Given the description of an element on the screen output the (x, y) to click on. 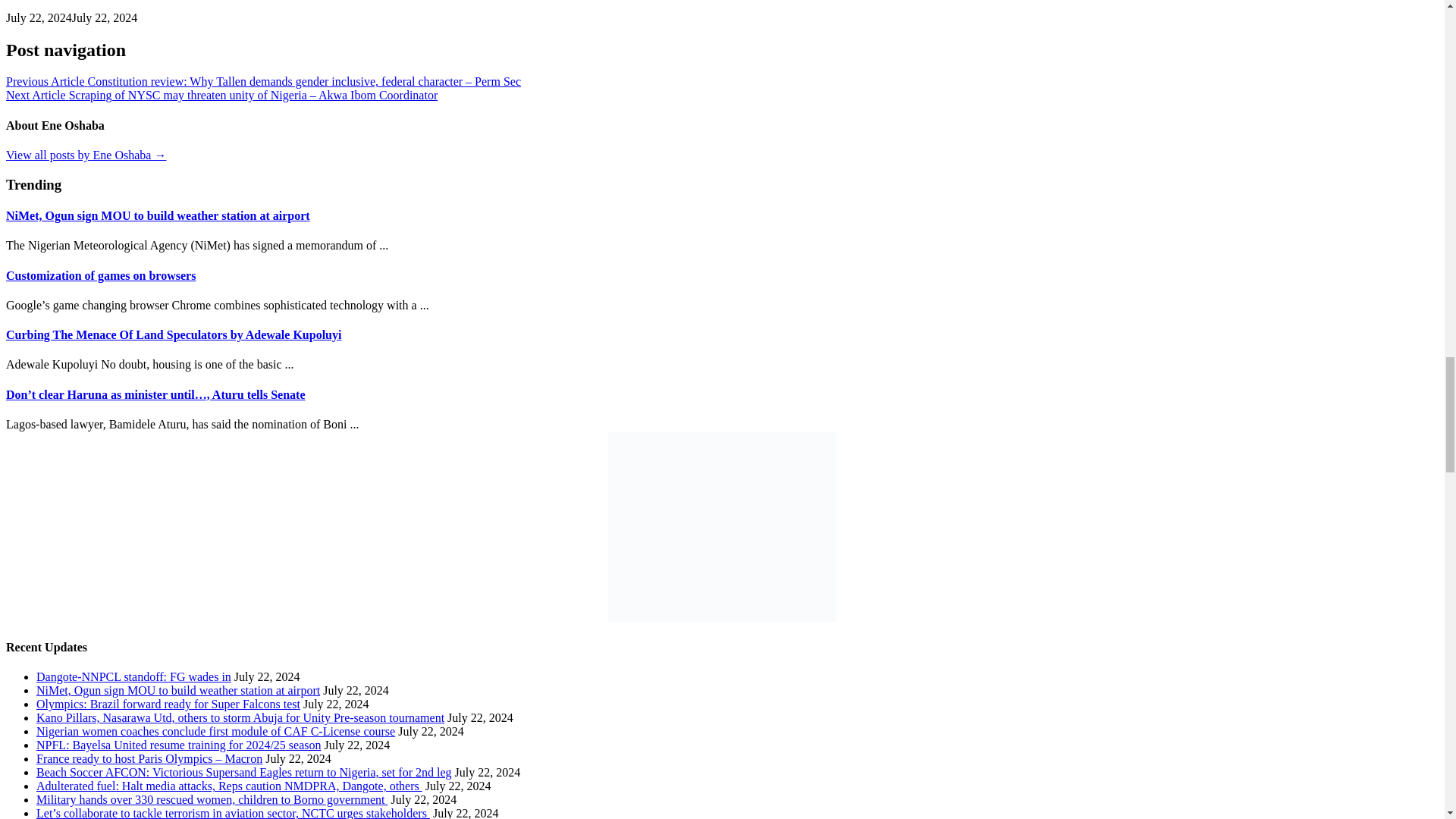
Ene Oshaba (85, 154)
